Given the description of an element on the screen output the (x, y) to click on. 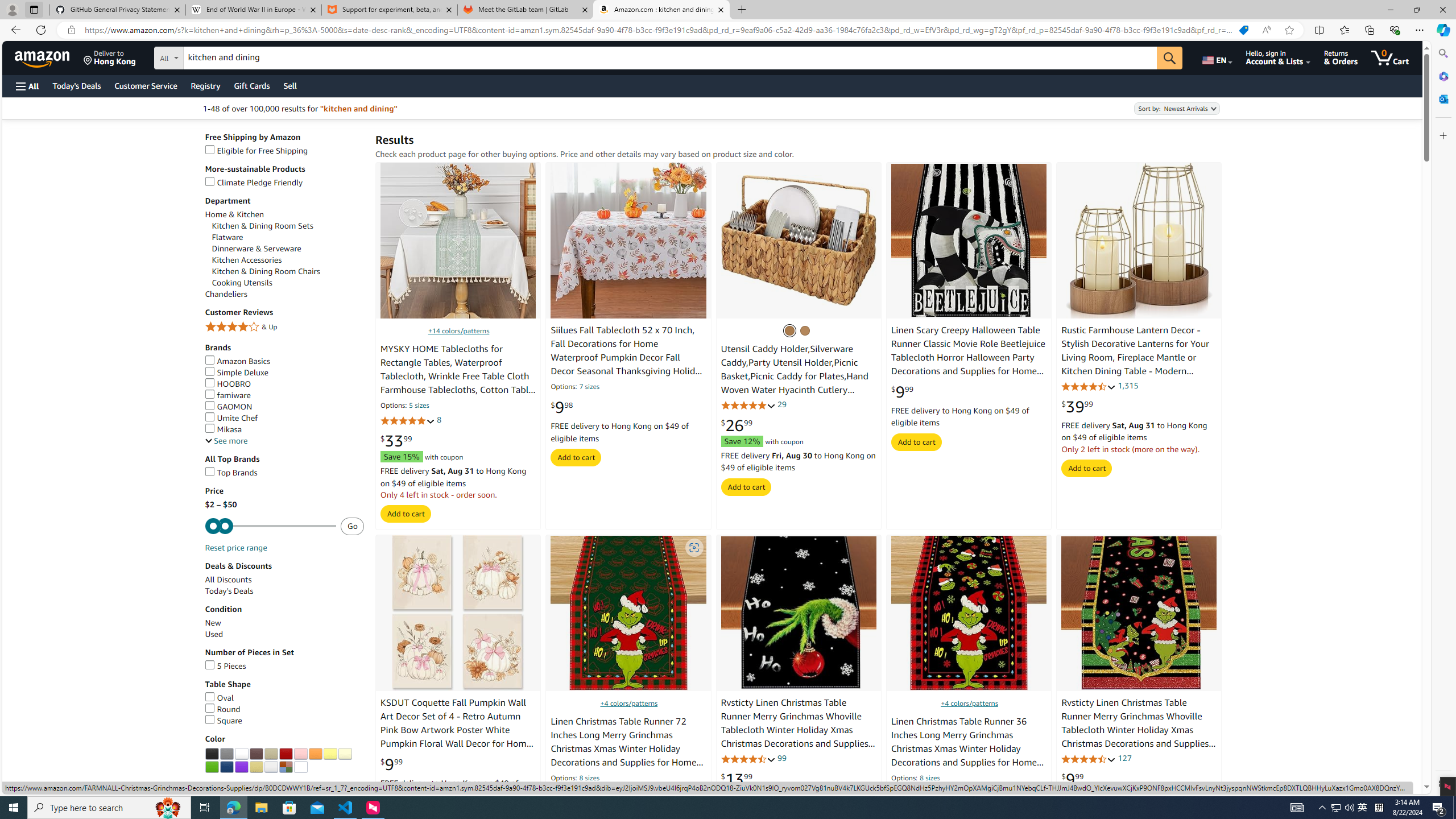
367 (954, 792)
Dinnerware & Serveware (287, 248)
Minimum (270, 525)
Today's Deals (284, 591)
Maximum (270, 525)
$13.99 (736, 779)
Cooking Utensils (287, 282)
+4 colors/patterns (969, 702)
4.3 out of 5 stars (1088, 386)
0 items in cart (1389, 57)
